Given the description of an element on the screen output the (x, y) to click on. 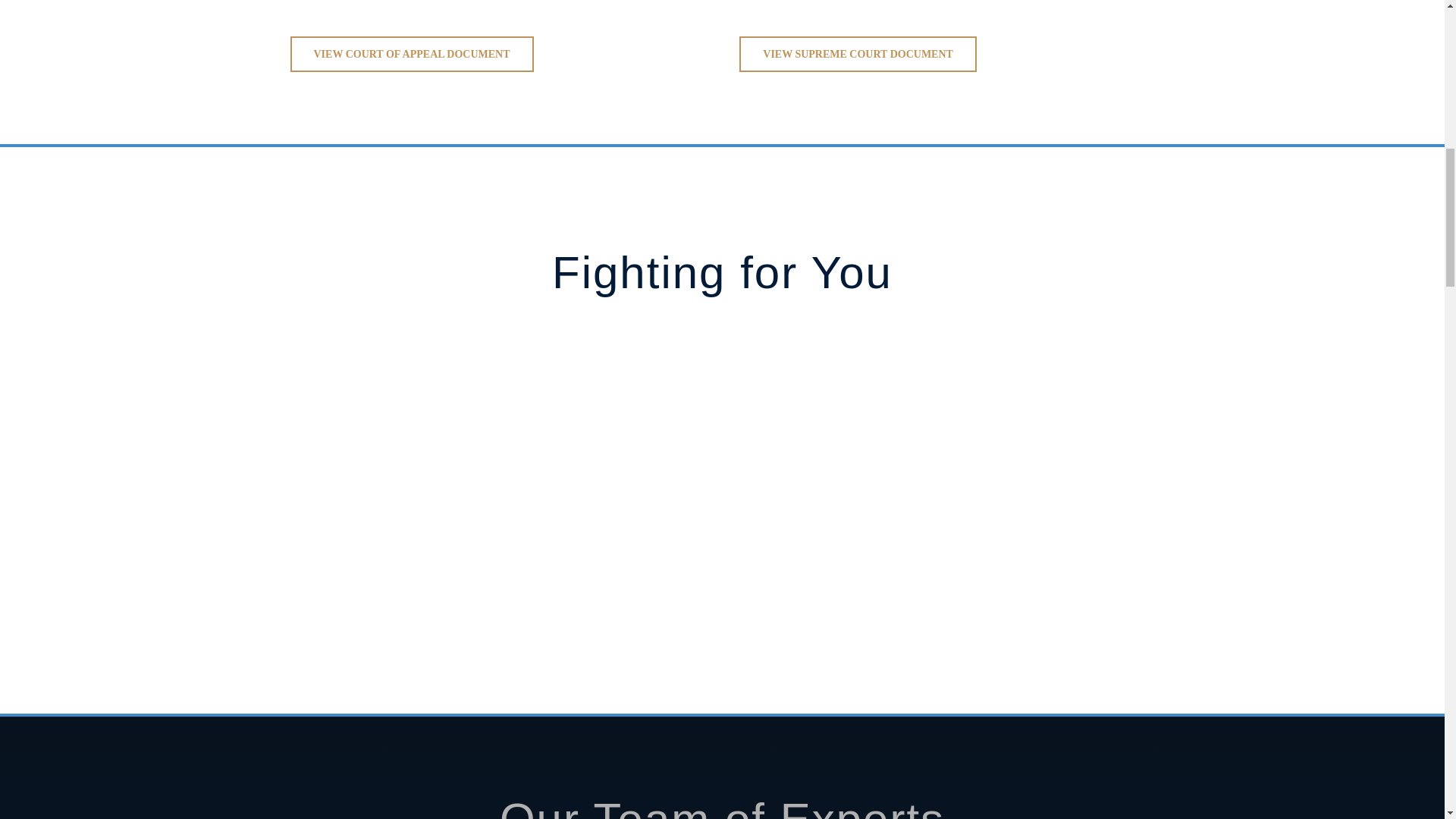
VIEW COURT OF APPEAL DOCUMENT (410, 54)
VIEW SUPREME COURT DOCUMENT (857, 54)
